Given the description of an element on the screen output the (x, y) to click on. 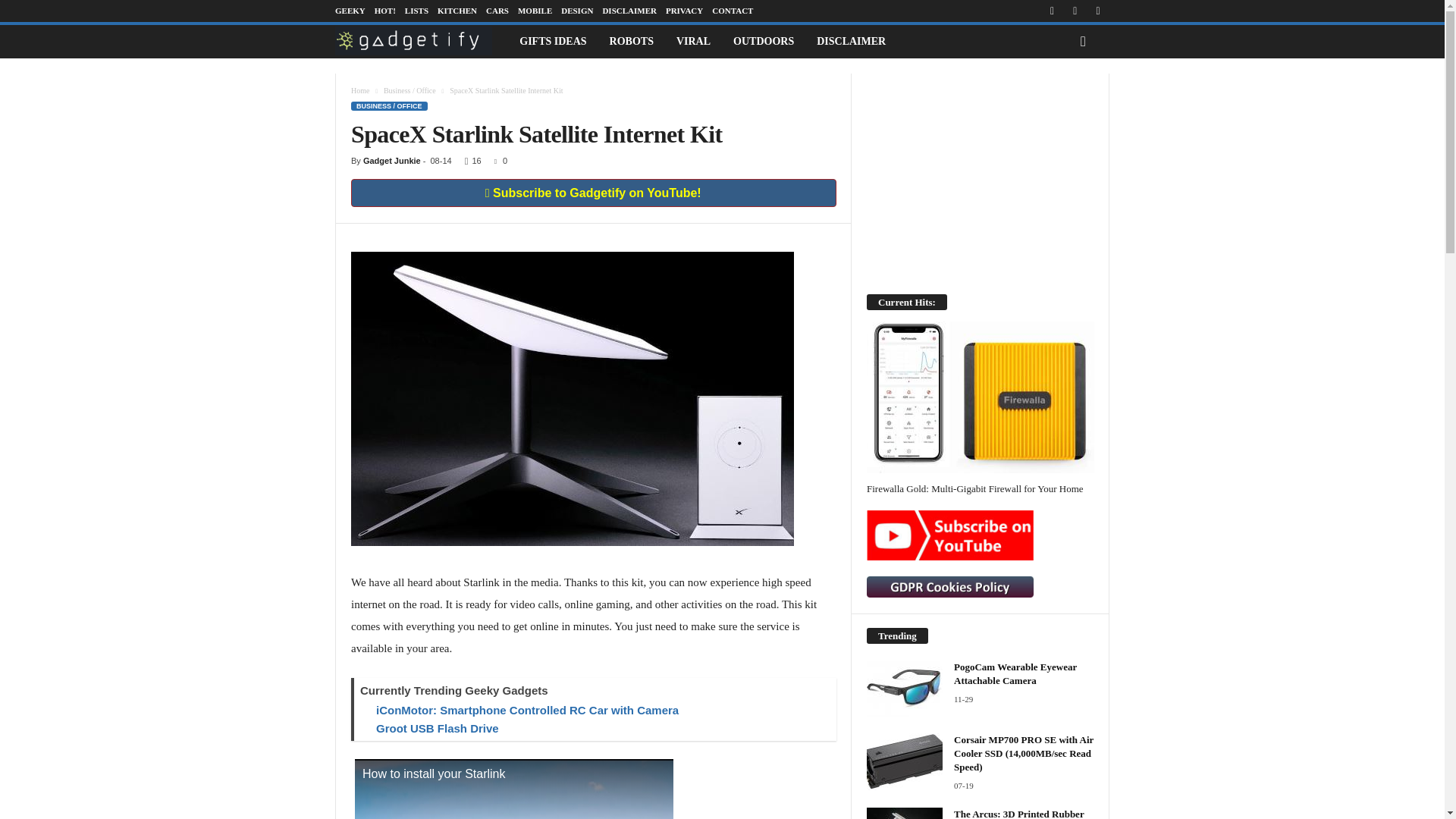
LISTS (416, 10)
GEEKY (349, 10)
HOT! (385, 10)
